Given the description of an element on the screen output the (x, y) to click on. 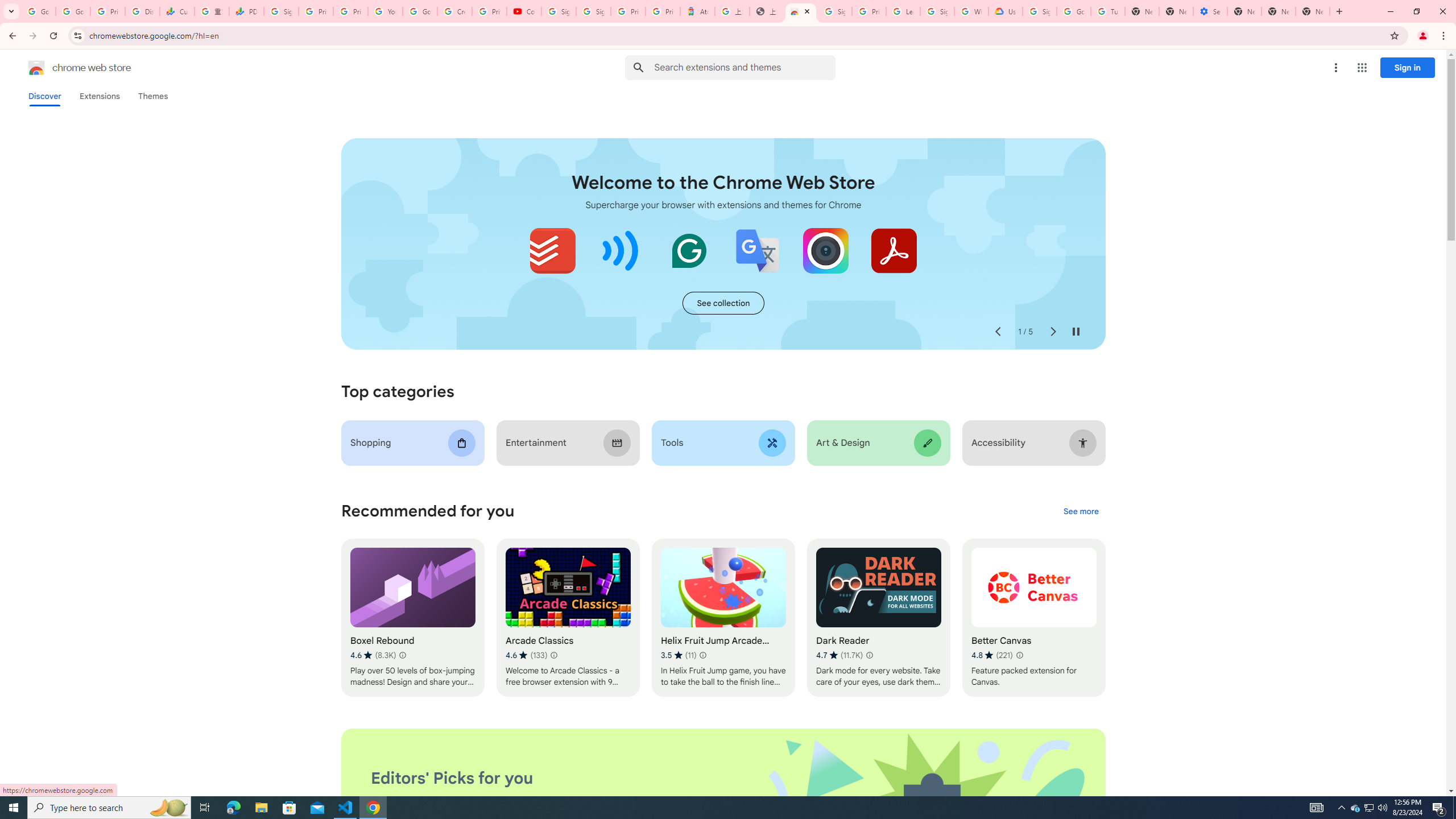
Awesome Screen Recorder & Screenshot (825, 250)
Discover (43, 95)
Average rating 4.7 out of 5 stars. 11.7K ratings. (839, 655)
Learn more about results and reviews "Arcade Classics" (553, 655)
Learn more about results and reviews "Boxel Rebound" (402, 655)
Extensions (99, 95)
Shopping (412, 443)
Boxel Rebound (412, 617)
Adobe Acrobat: PDF edit, convert, sign tools (893, 250)
